Given the description of an element on the screen output the (x, y) to click on. 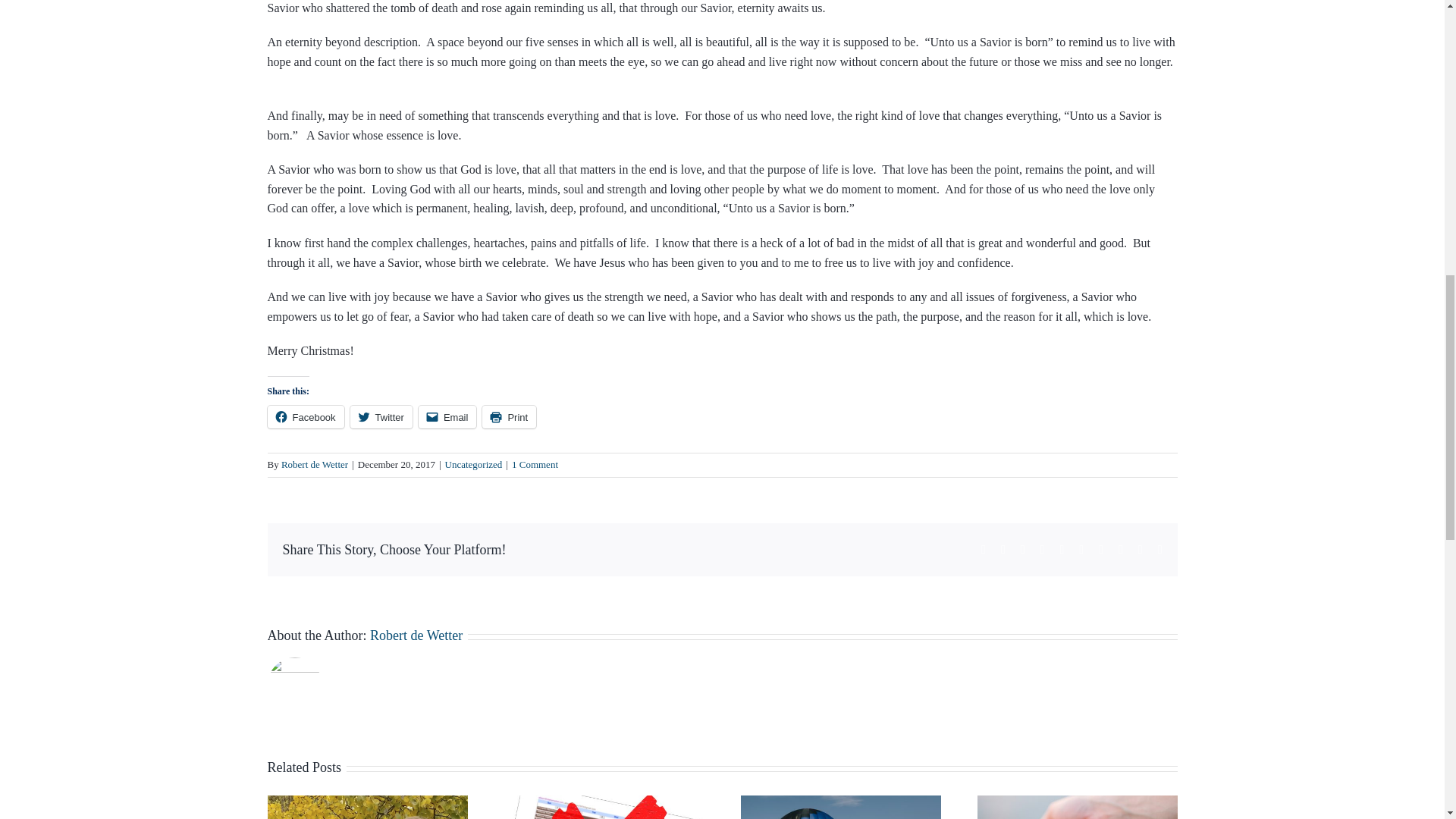
Posts by Robert de Wetter (314, 464)
Click to share on Twitter (381, 416)
Click to share on Facebook (304, 416)
Click to print (508, 416)
Click to email a link to a friend (448, 416)
